Given the description of an element on the screen output the (x, y) to click on. 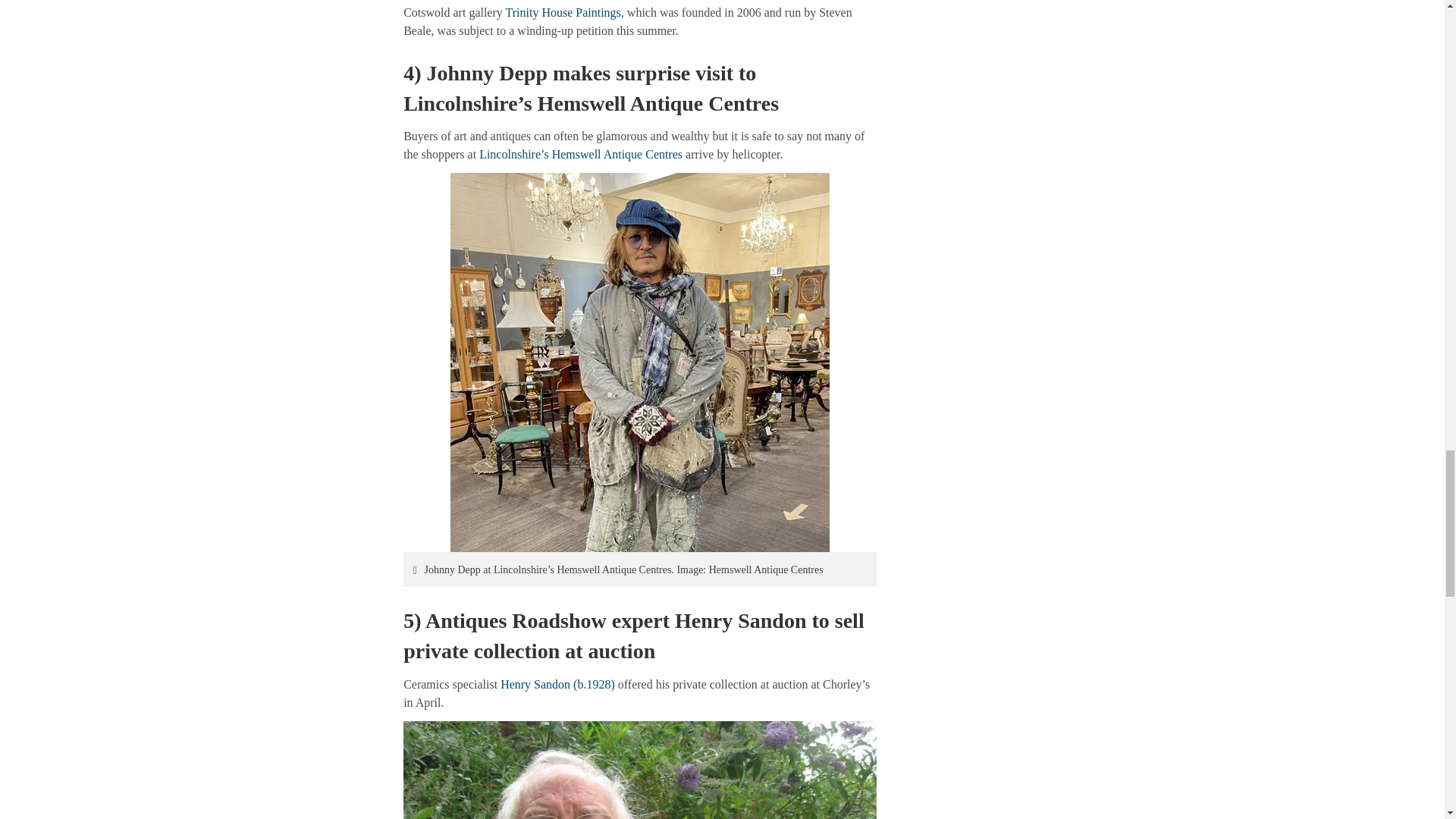
Henry Sandon (639, 770)
Art dealer Trinity House Paintings goes into administration (563, 11)
